Given the description of an element on the screen output the (x, y) to click on. 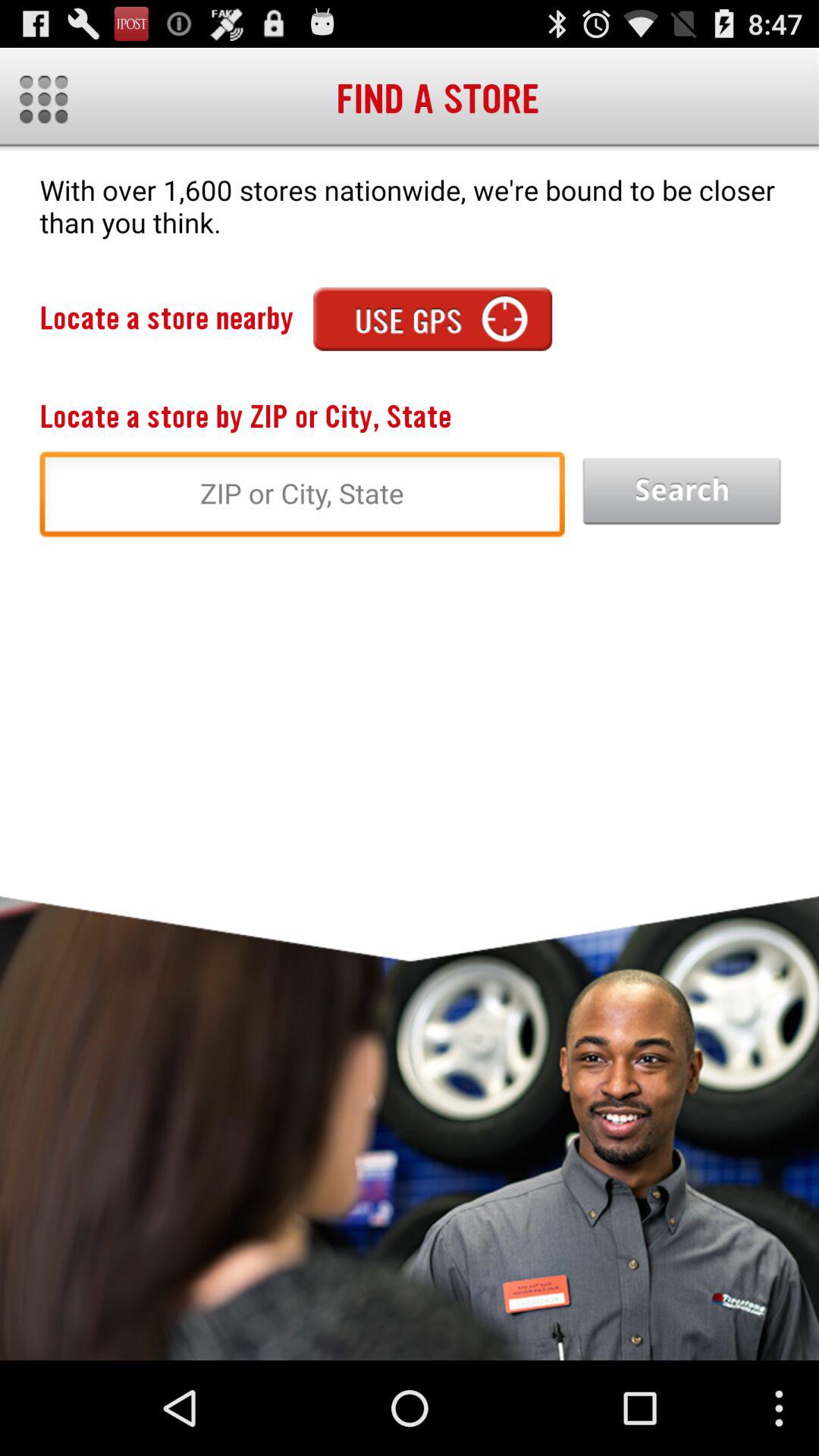
select the item on the right (681, 491)
